Given the description of an element on the screen output the (x, y) to click on. 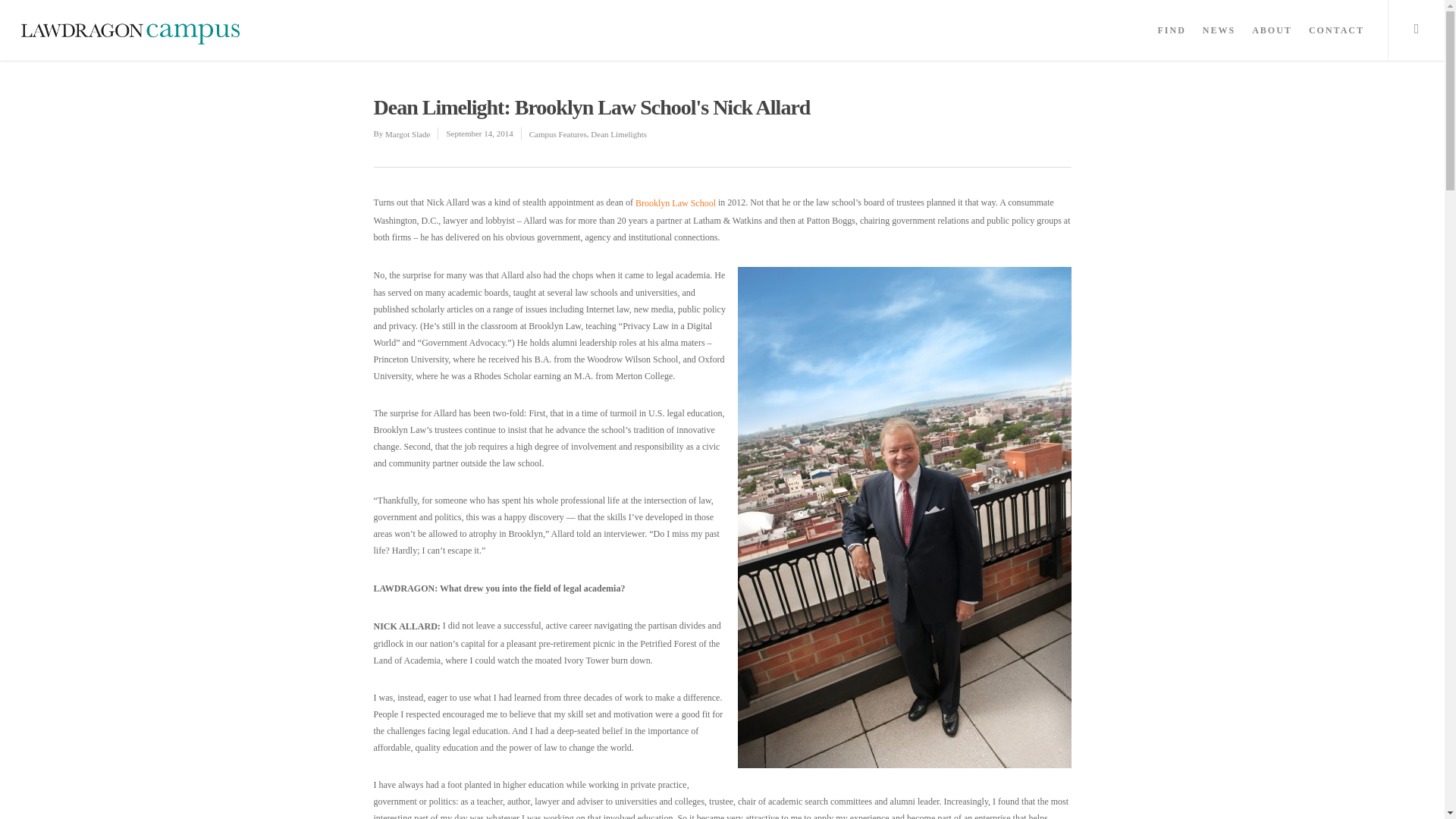
Posts by Margot Slade (407, 133)
ABOUT (1272, 37)
FIND (1171, 37)
CONTACT (1336, 37)
Margot Slade (407, 133)
NEWS (1219, 37)
Dean Limelights (618, 133)
Campus Features (557, 133)
Brooklyn Law School (675, 204)
